Given the description of an element on the screen output the (x, y) to click on. 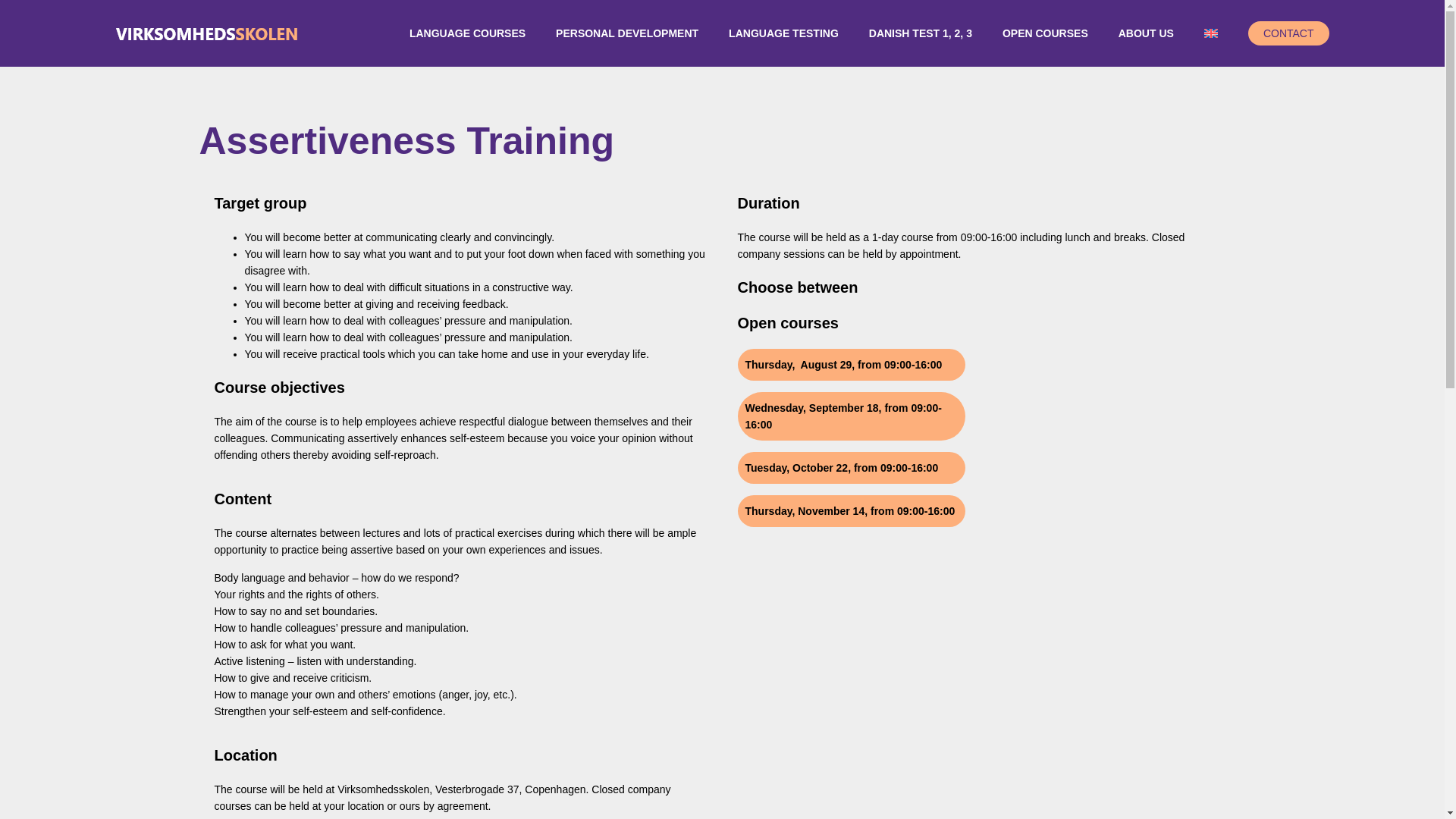
ABOUT US (1146, 33)
DANISH TEST 1, 2, 3 (920, 33)
OPEN COURSES (1045, 33)
PERSONAL DEVELOPMENT (626, 33)
LANGUAGE COURSES (467, 33)
LANGUAGE TESTING (783, 33)
